Given the description of an element on the screen output the (x, y) to click on. 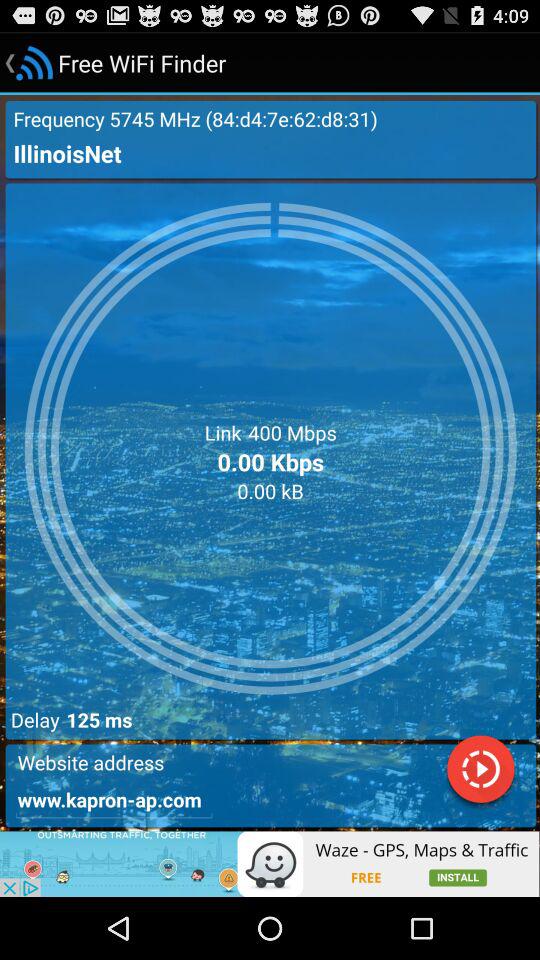
advertisement link (270, 864)
